Given the description of an element on the screen output the (x, y) to click on. 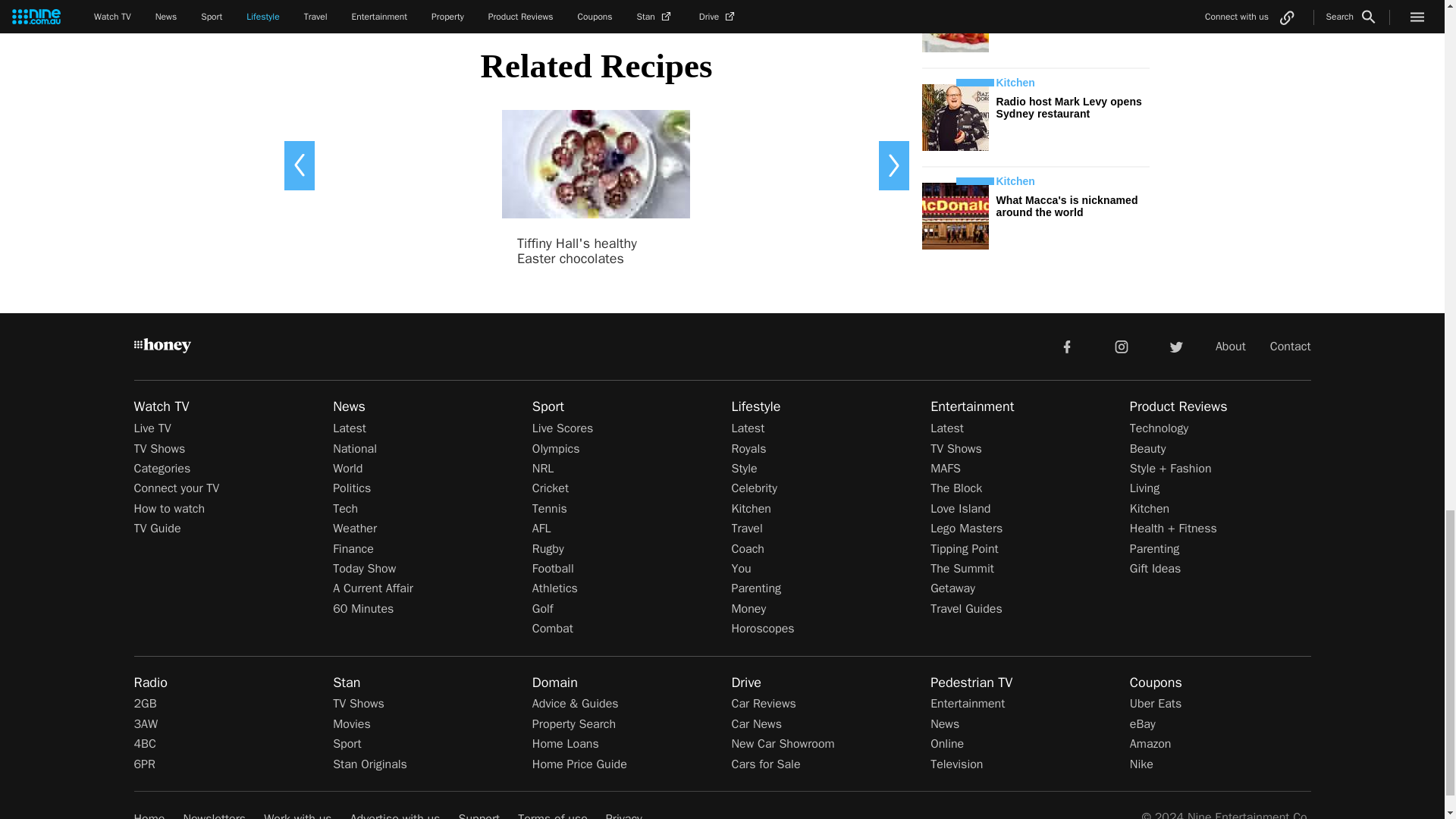
twitter (1175, 345)
facebook (1066, 345)
Gallery Arrow (299, 164)
Gallery Arrow (893, 164)
instagram (1121, 345)
